Given the description of an element on the screen output the (x, y) to click on. 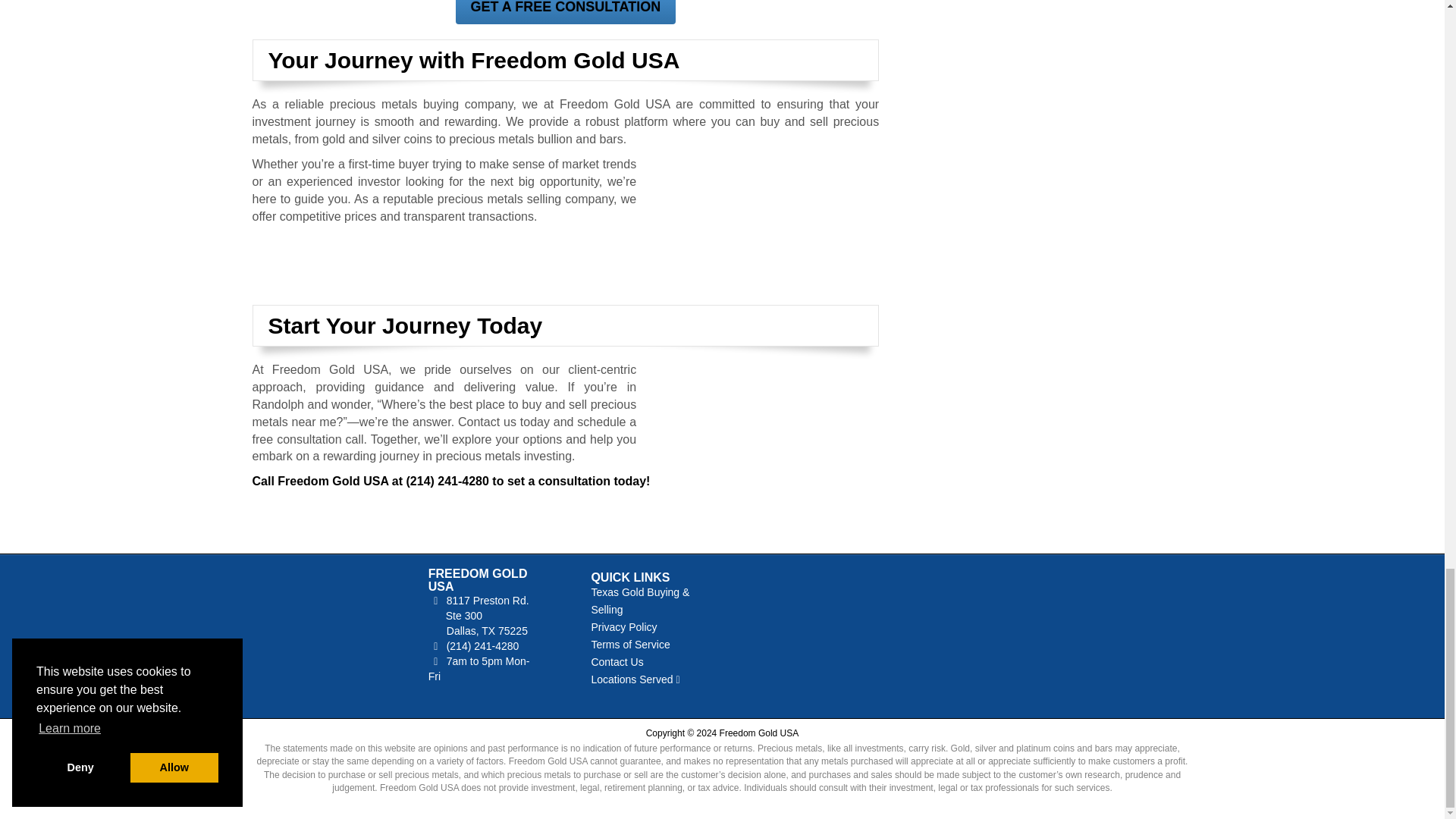
GET A FREE CONSULTATION (564, 12)
Freedom Gold USA (318, 624)
